Given the description of an element on the screen output the (x, y) to click on. 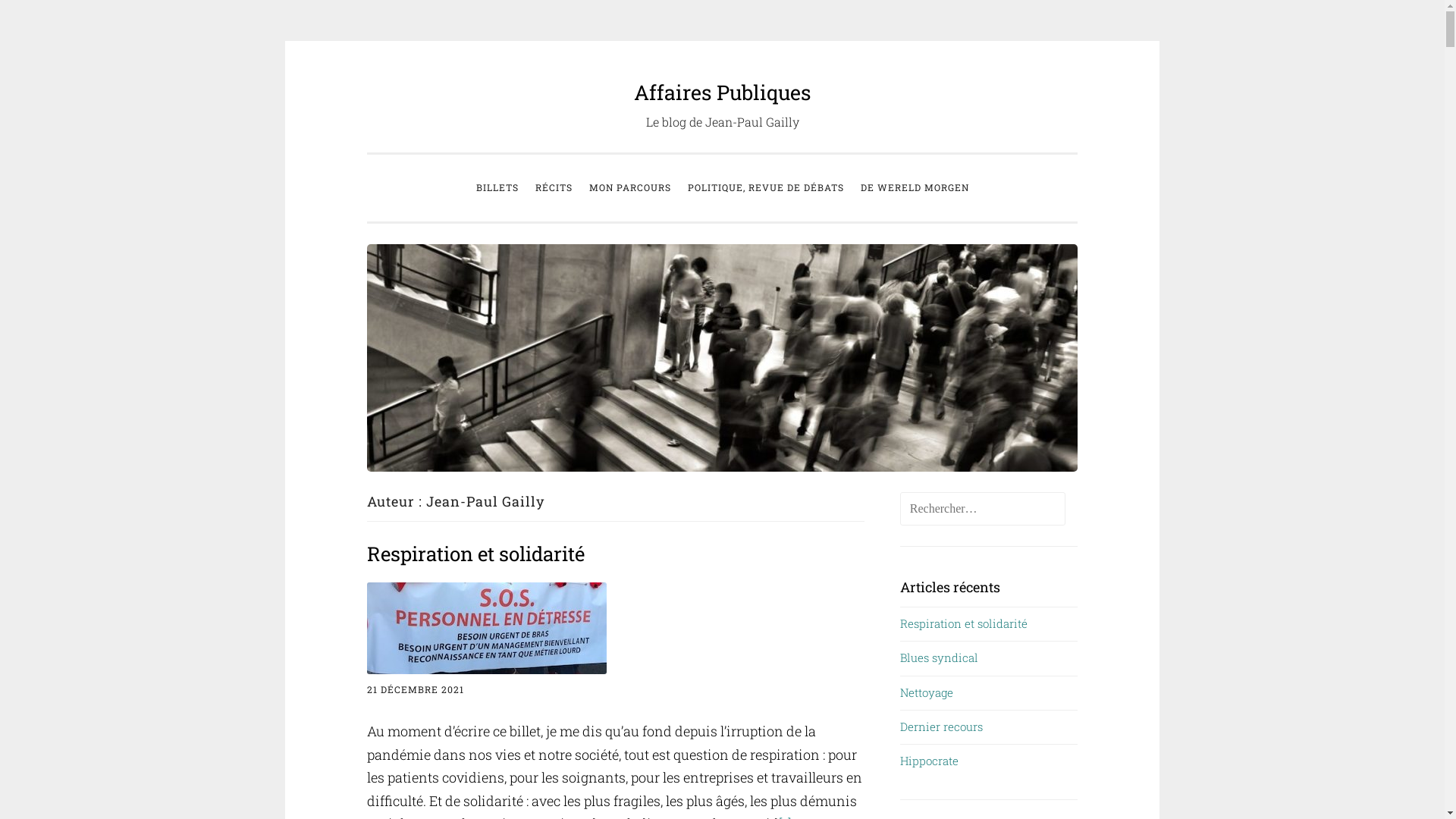
Blues syndical Element type: text (939, 657)
MON PARCOURS Element type: text (629, 187)
Rechercher Element type: text (57, 17)
Affaires Publiques Element type: text (721, 91)
BILLETS Element type: text (496, 187)
Nettoyage Element type: text (926, 691)
Dernier recours Element type: text (941, 726)
DE WERELD MORGEN Element type: text (914, 187)
Hippocrate Element type: text (929, 760)
Aller au contenu principal Element type: text (366, 81)
